Given the description of an element on the screen output the (x, y) to click on. 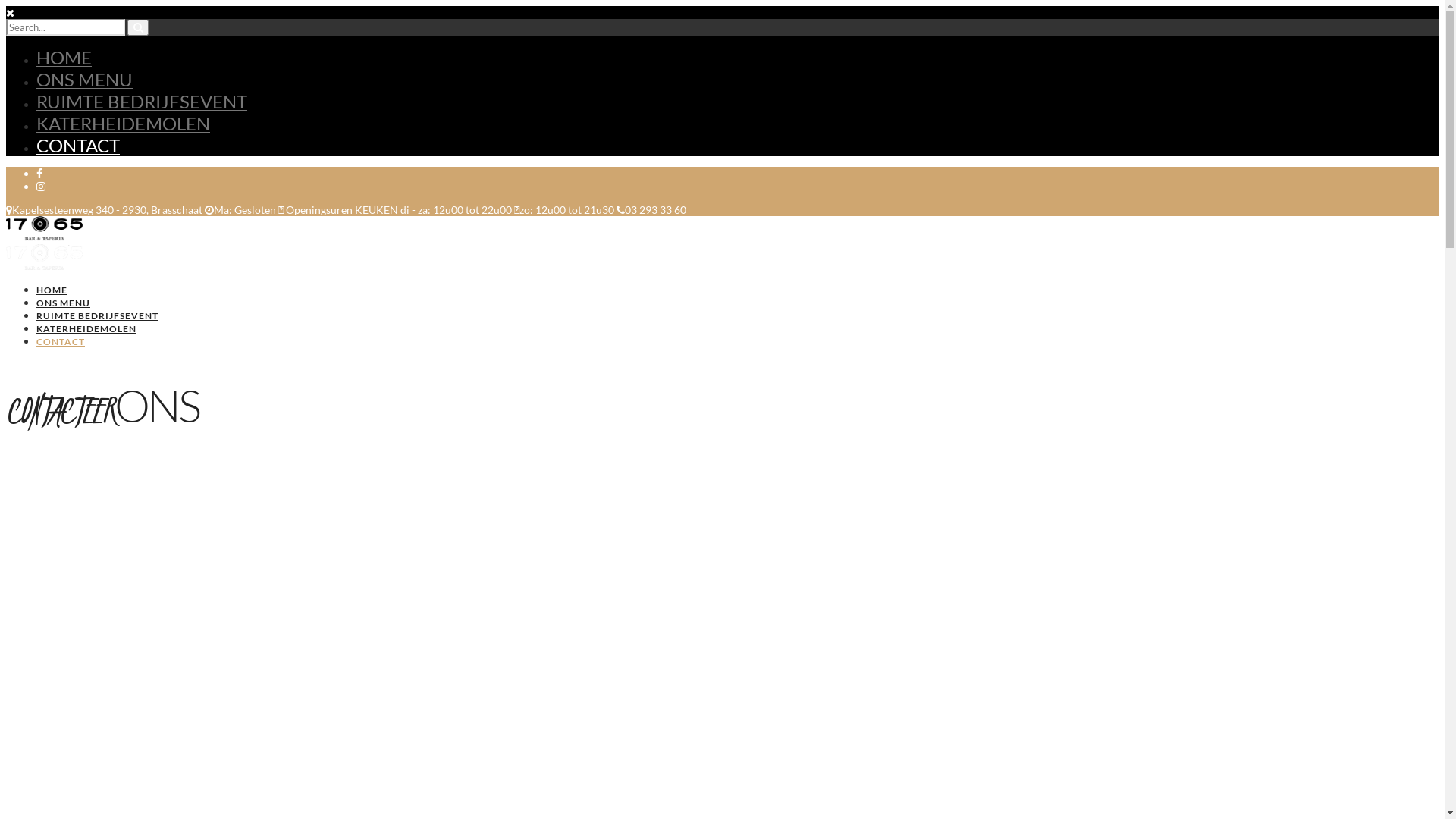
HOME Element type: text (63, 57)
ONS MENU Element type: text (84, 79)
HOME Element type: text (51, 289)
RUIMTE BEDRIJFSEVENT Element type: text (97, 315)
03 293 33 60 Element type: text (651, 209)
CONTACT Element type: text (60, 341)
RUIMTE BEDRIJFSEVENT Element type: text (141, 101)
KATERHEIDEMOLEN Element type: text (86, 328)
ONS MENU Element type: text (63, 302)
KATERHEIDEMOLEN Element type: text (123, 123)
CONTACT Element type: text (77, 145)
Instagram Element type: hover (40, 185)
